Given the description of an element on the screen output the (x, y) to click on. 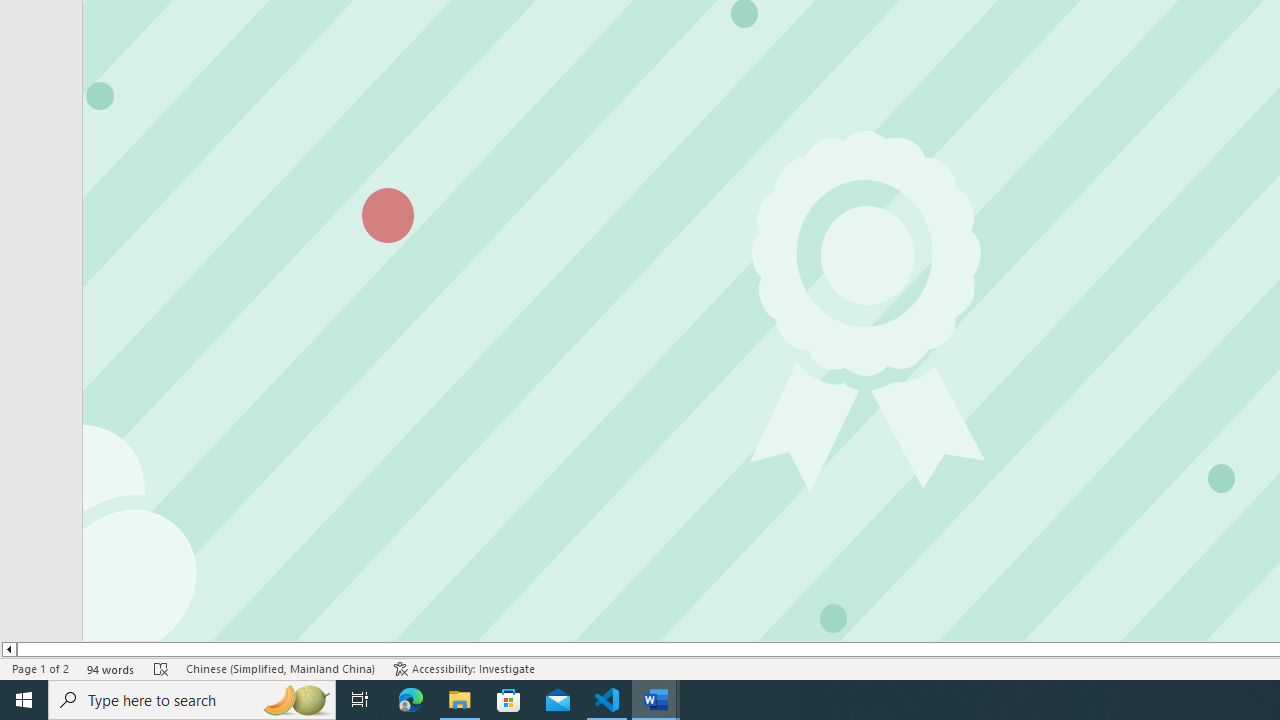
Page Number Page 1 of 2 (39, 668)
Word Count 94 words (111, 668)
Column left (8, 649)
